Given the description of an element on the screen output the (x, y) to click on. 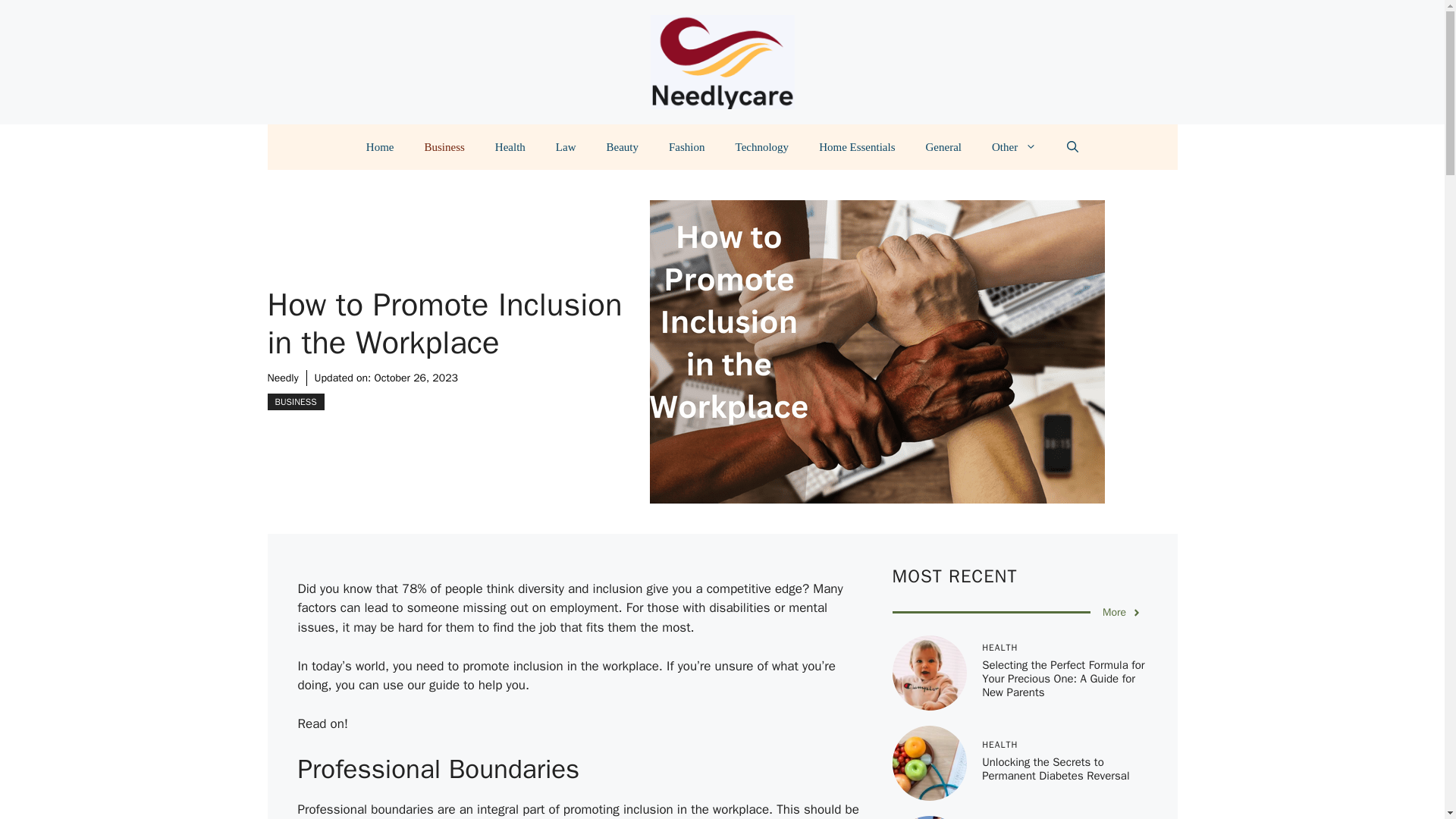
Business (444, 146)
Technology (762, 146)
Fashion (686, 146)
Health (510, 146)
BUSINESS (294, 401)
Other (1013, 146)
General (943, 146)
Needly (282, 377)
Home Essentials (856, 146)
Home (379, 146)
Beauty (622, 146)
Law (565, 146)
